Given the description of an element on the screen output the (x, y) to click on. 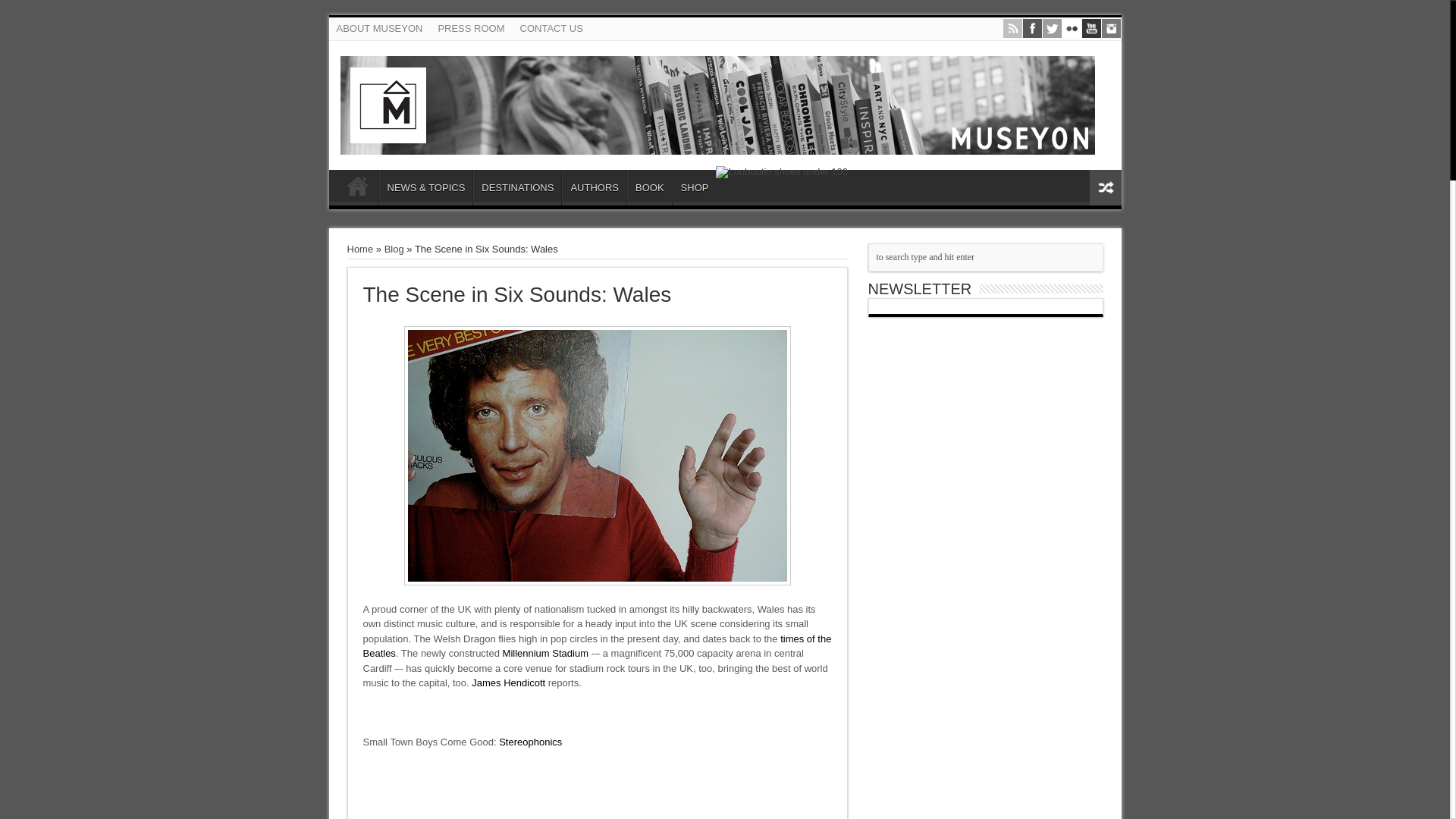
instagram (1109, 29)
Facebook (1031, 29)
Rss (1012, 29)
MUSEYON BOOKS (716, 143)
Youtube (1090, 29)
Random Article (1105, 187)
PRESS ROOM (470, 28)
to search type and hit enter (984, 257)
Tom Jones (596, 455)
ABOUT MUSEYON (379, 28)
DESTINATIONS (516, 187)
HOME (357, 189)
CONTACT US (551, 28)
Flickr (1070, 29)
Twitter (1051, 29)
